Given the description of an element on the screen output the (x, y) to click on. 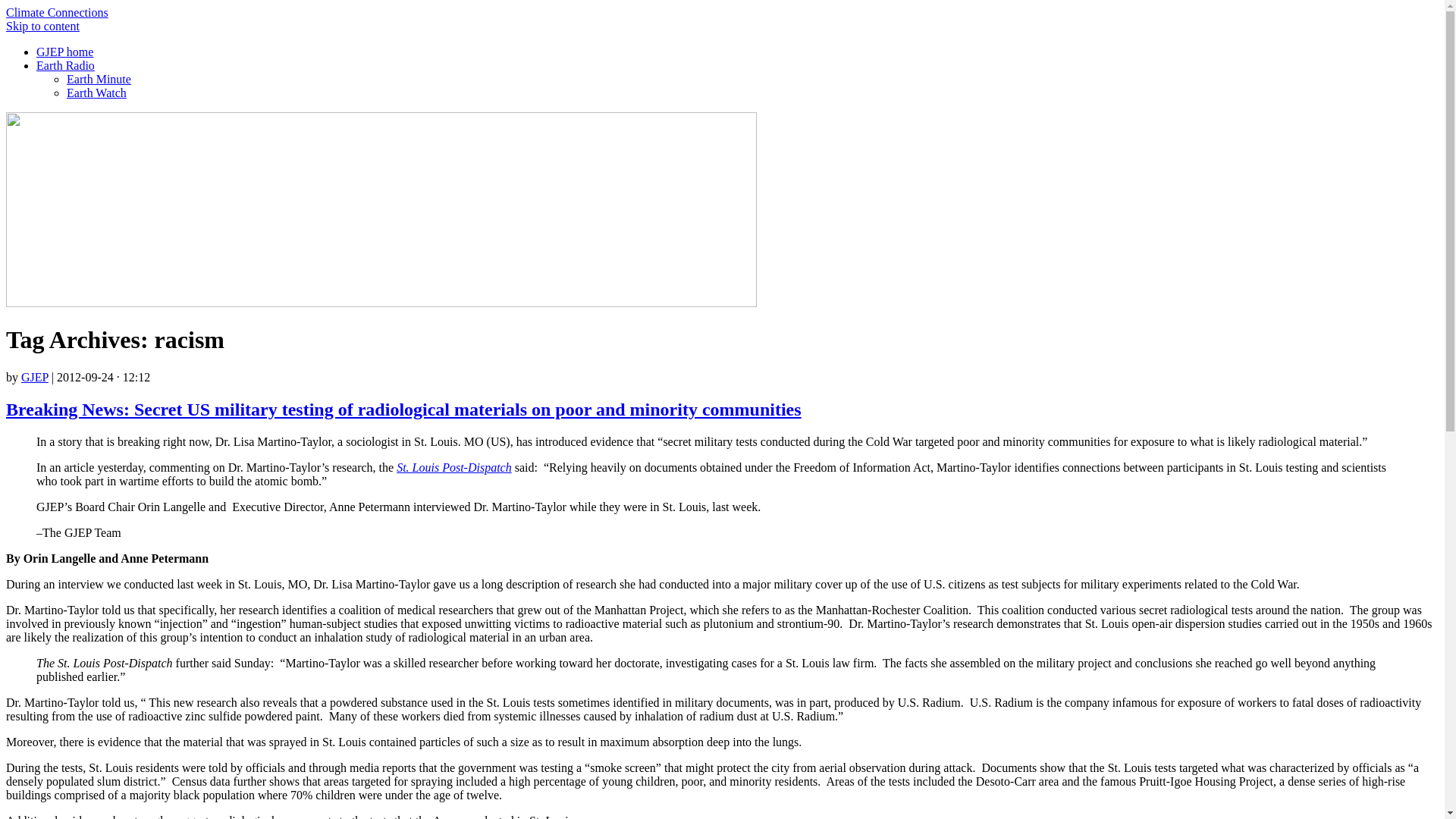
View all posts by GJEP (34, 377)
Earth Watch (96, 92)
GJEP (34, 377)
Skip to content (42, 25)
Skip to content (42, 25)
Earth Radio (65, 65)
Climate Connections (56, 11)
Climate Connections (56, 11)
GJEP home (64, 51)
Earth Minute (98, 78)
St. Louis Post-Dispatch (454, 467)
